Given the description of an element on the screen output the (x, y) to click on. 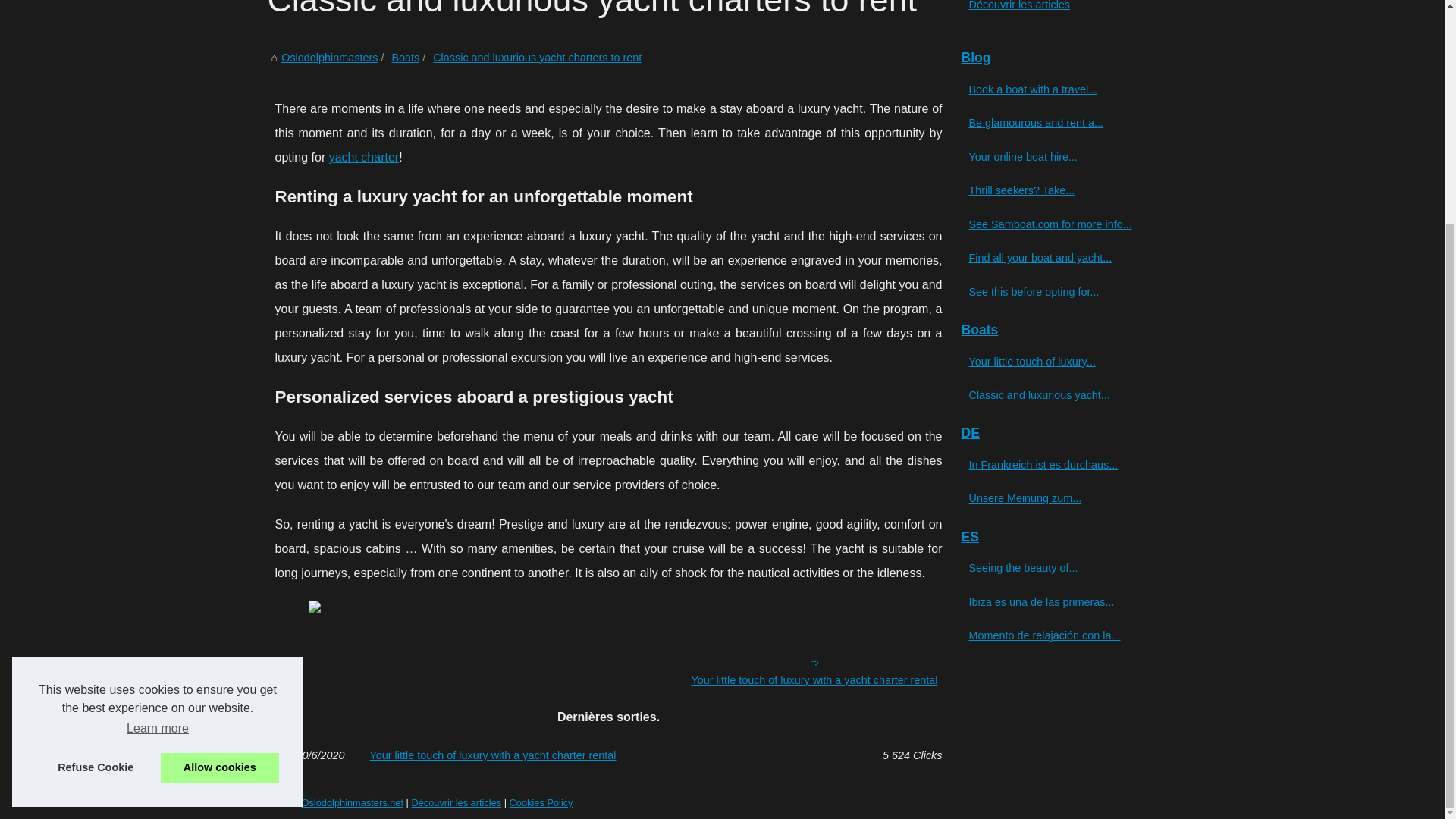
In Frankreich ist es durchaus... (1055, 464)
Oslodolphinmasters.net (352, 802)
Your online boat hire... (1055, 157)
Be glamourous and rent a yacht charter (1055, 122)
Classic and luxurious yacht charters to rent (537, 57)
Your little touch of luxury with a yacht charter rental (1055, 361)
Boats (405, 57)
DE (1062, 433)
Your little touch of luxury with a yacht charter rental (608, 754)
Book a boat with a travel... (1055, 89)
